Given the description of an element on the screen output the (x, y) to click on. 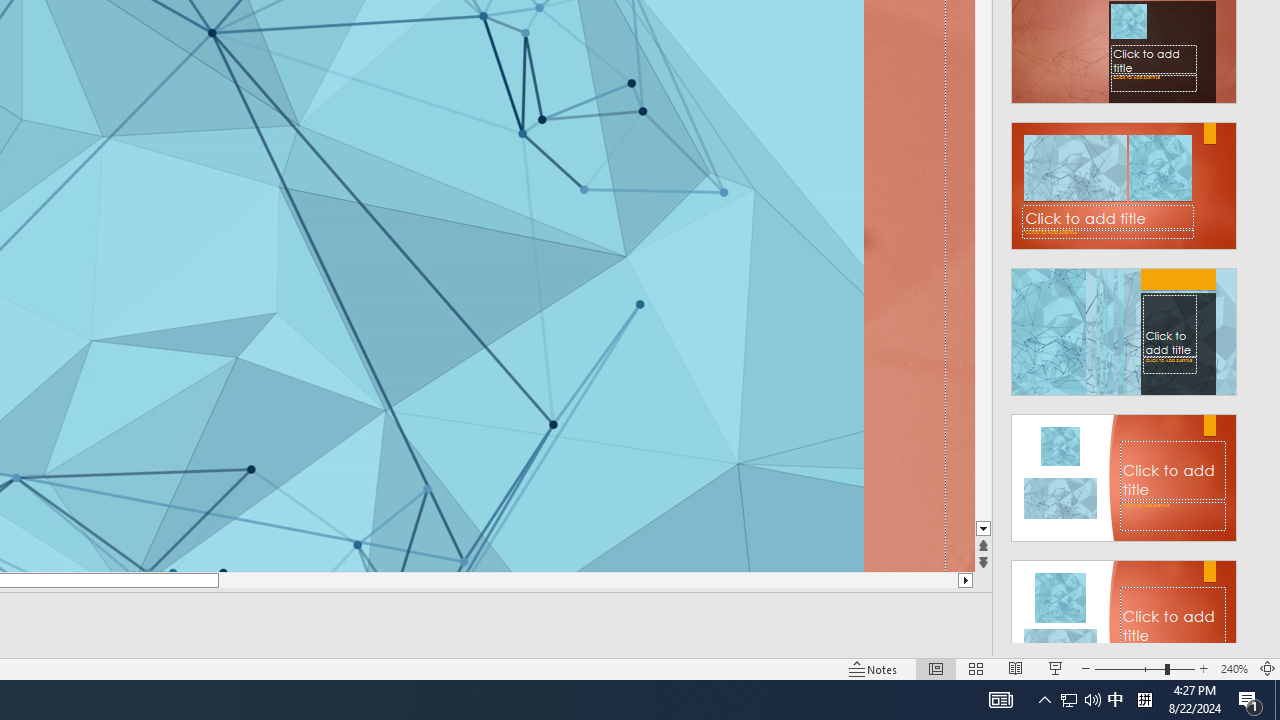
Zoom 240% (1234, 668)
